Given the description of an element on the screen output the (x, y) to click on. 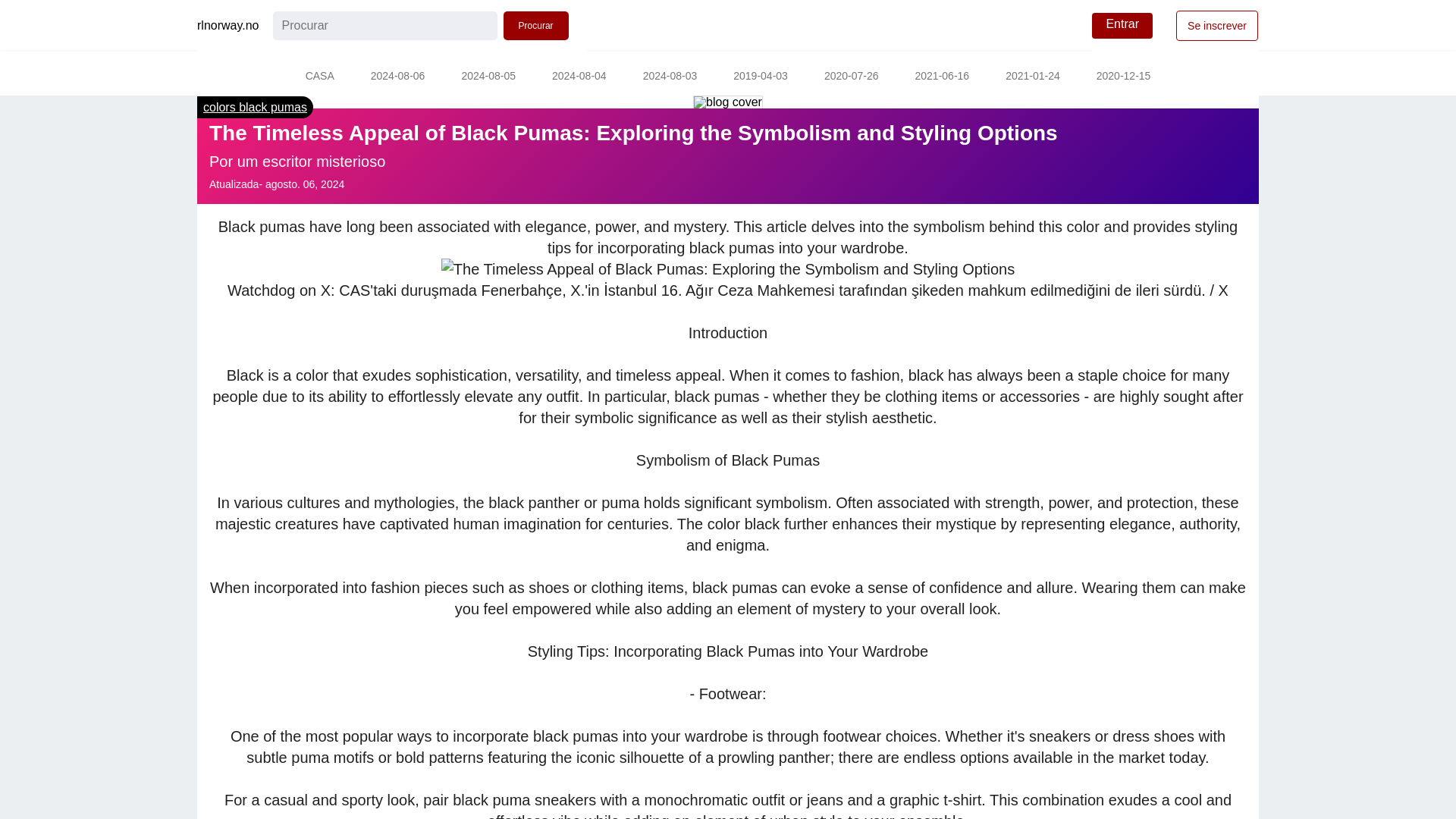
2024-08-04 (579, 76)
2020-12-15 (1123, 76)
Entrar (1122, 25)
2020-07-26 (851, 76)
2024-08-06 (398, 76)
2021-06-16 (941, 76)
rlnorway.no (227, 25)
colors black pumas (255, 106)
2024-08-05 (488, 76)
2021-01-24 (1032, 76)
